Given the description of an element on the screen output the (x, y) to click on. 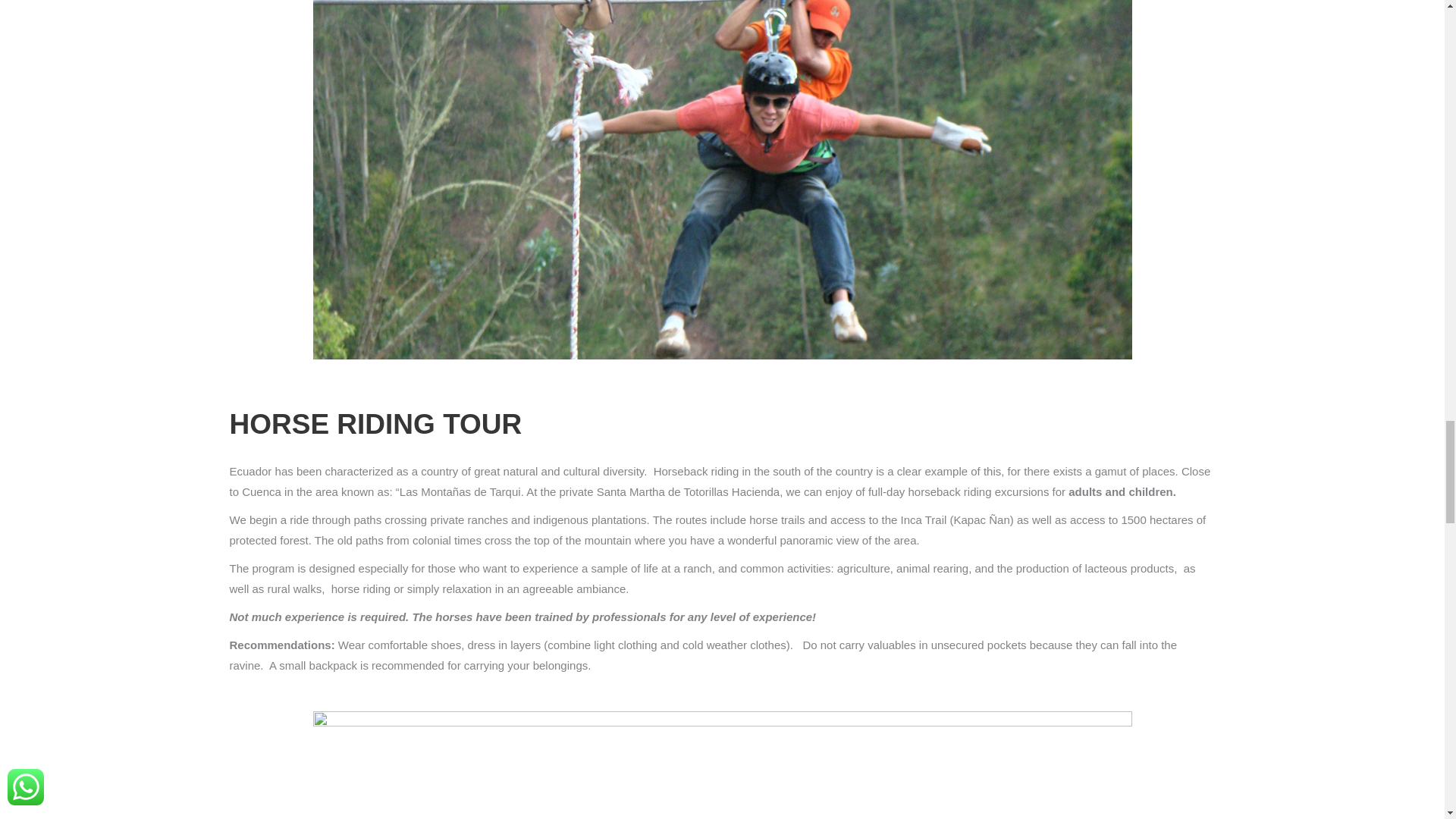
Cuenca adventure tours horse riding (722, 765)
